Given the description of an element on the screen output the (x, y) to click on. 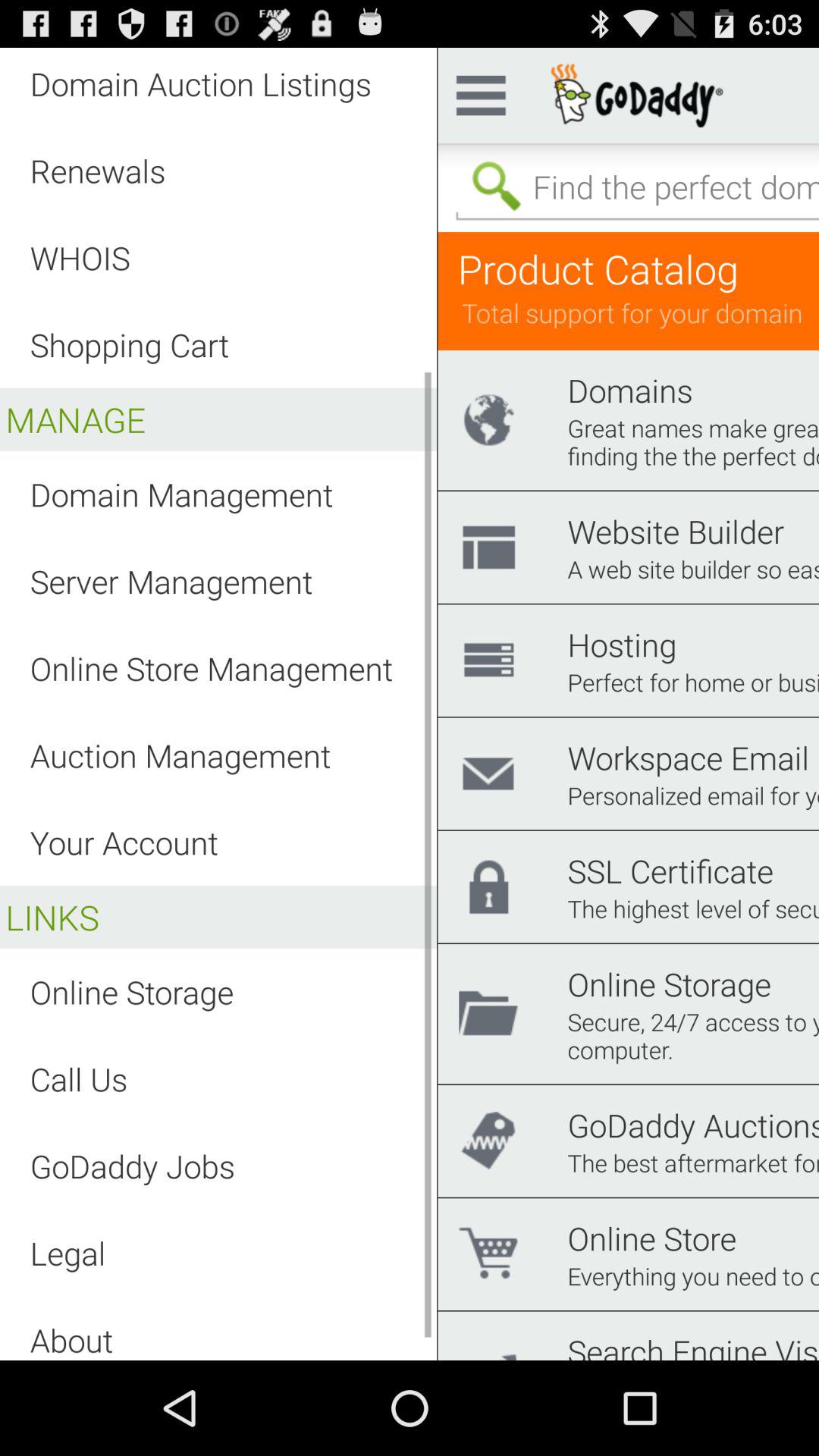
tap item below the website builder icon (693, 568)
